Given the description of an element on the screen output the (x, y) to click on. 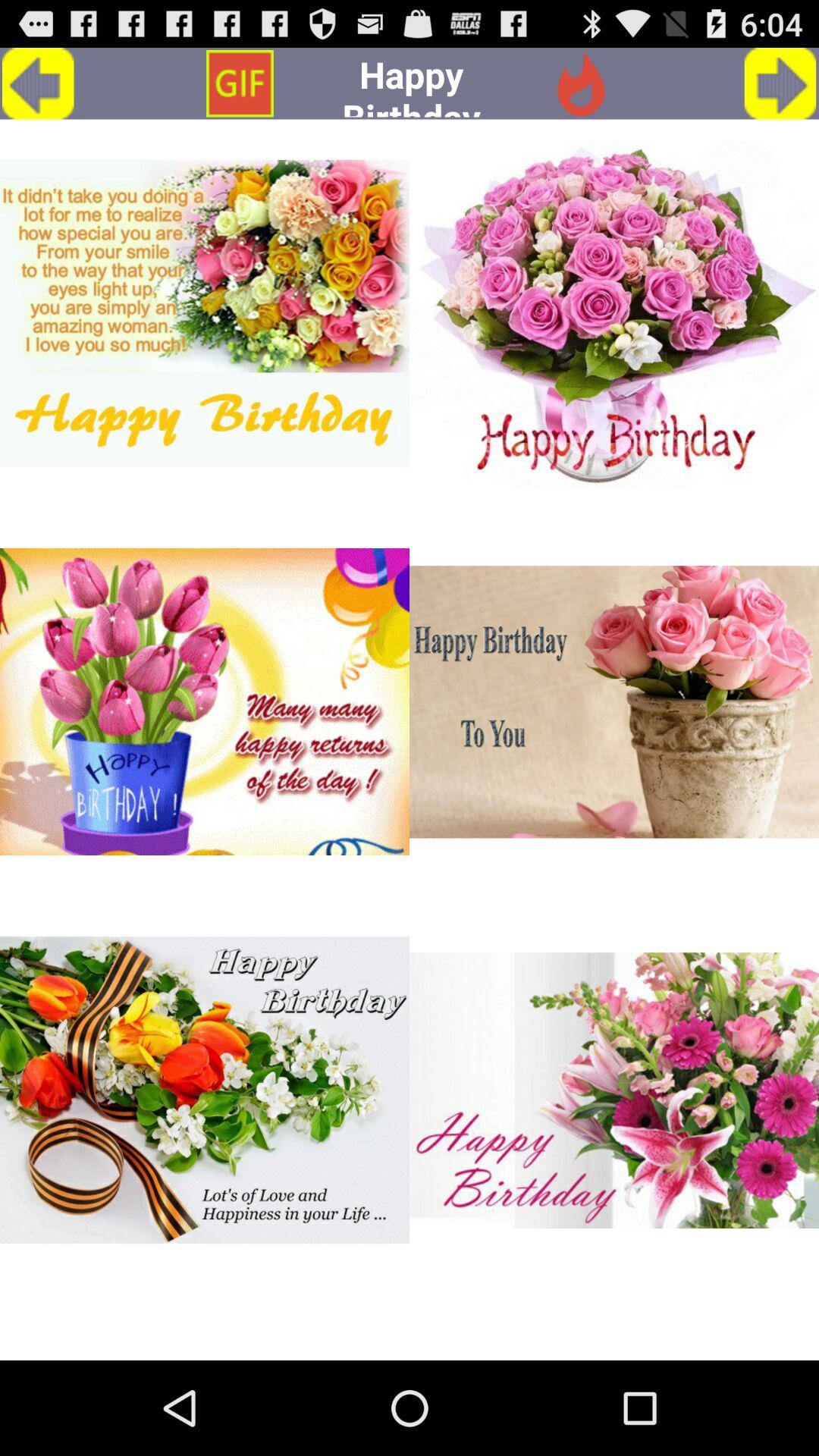
go to previous (38, 83)
